Given the description of an element on the screen output the (x, y) to click on. 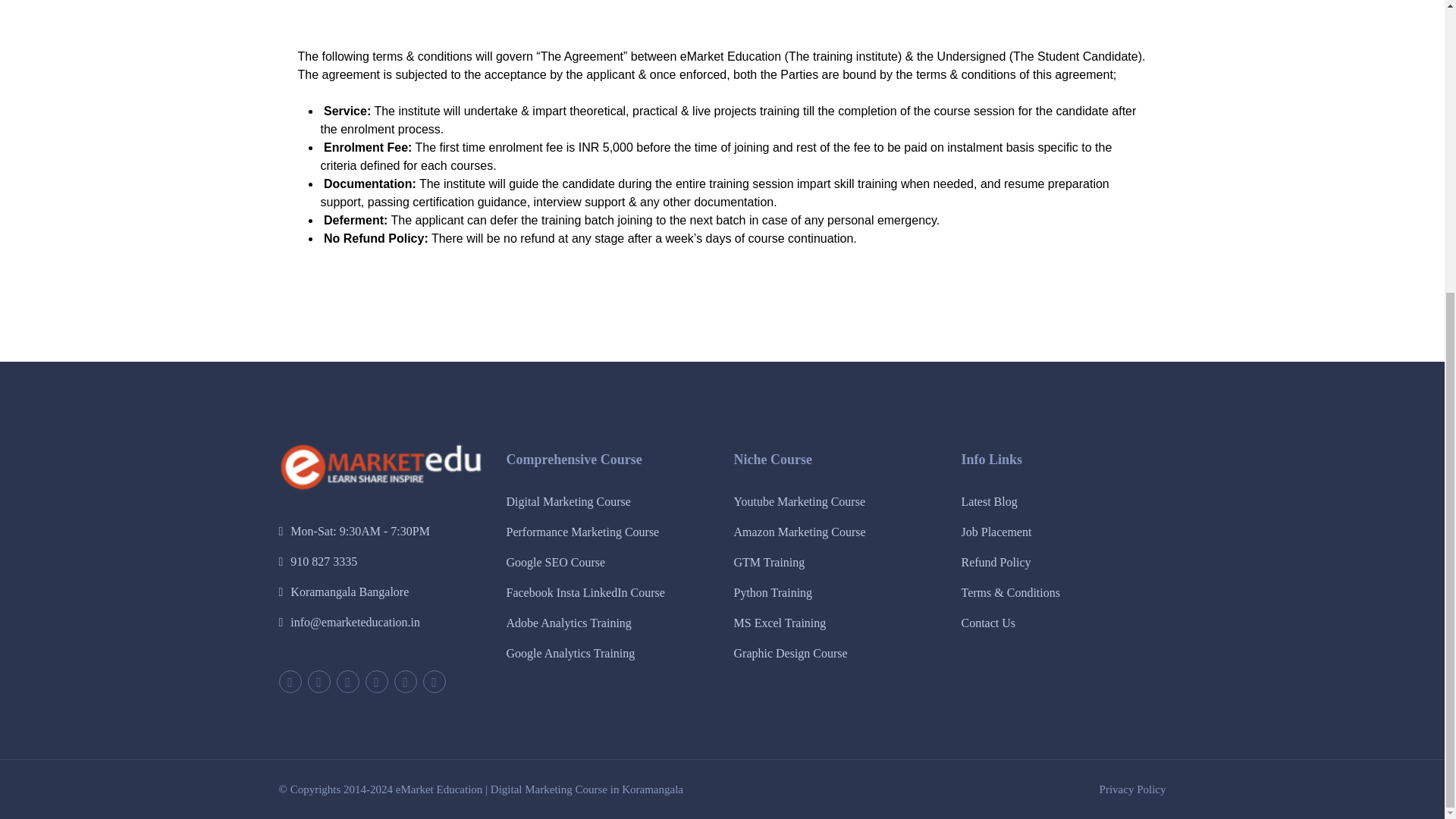
youtube (347, 681)
facebook-f (318, 681)
linkedin-in (405, 681)
pinterest (376, 681)
twitter (290, 681)
instagram (434, 681)
